Given the description of an element on the screen output the (x, y) to click on. 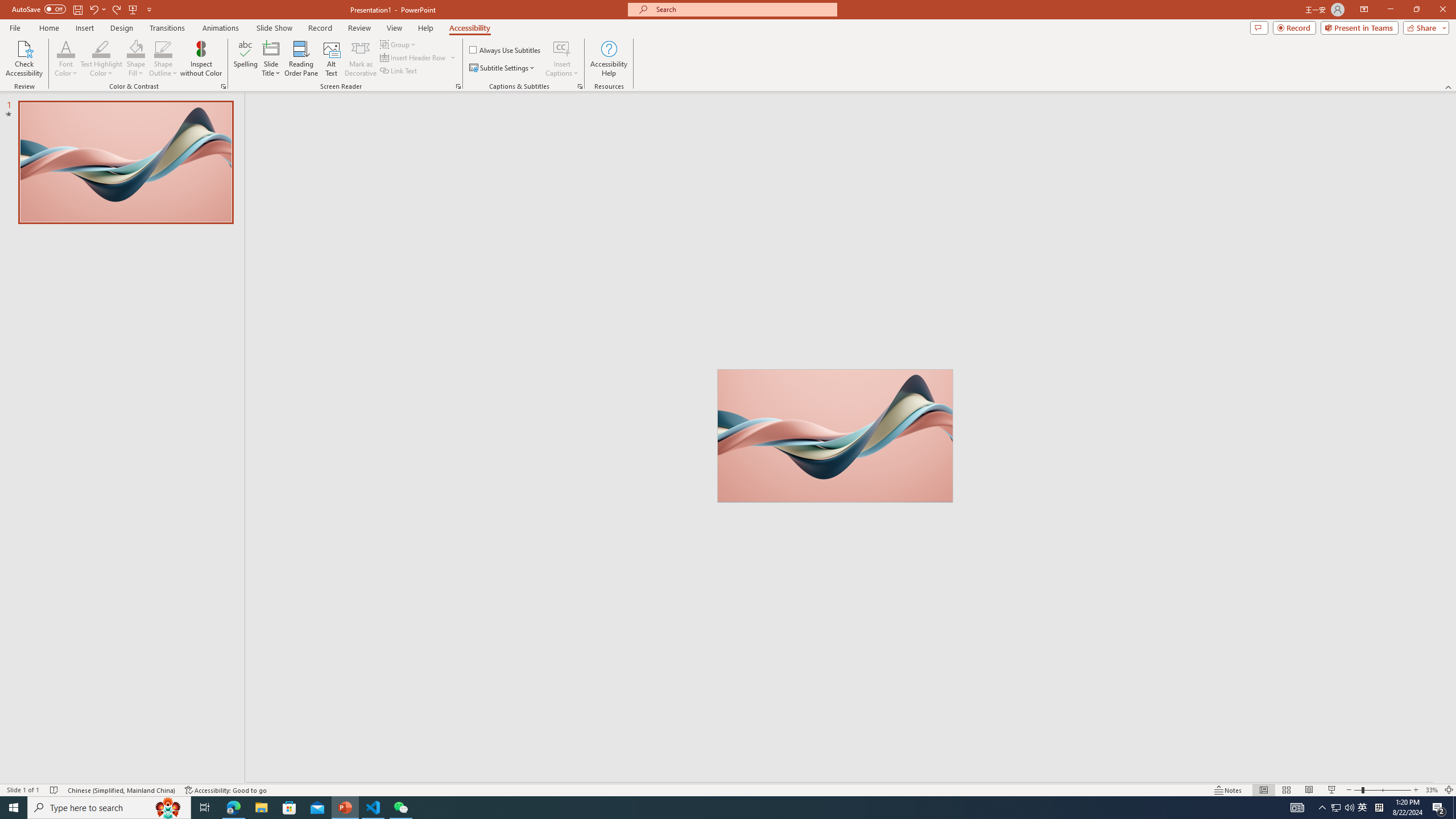
Insert Header Row (418, 56)
Zoom 33% (1431, 790)
Color & Contrast (223, 85)
Mark as Decorative (360, 58)
Accessibility Help (608, 58)
